Given the description of an element on the screen output the (x, y) to click on. 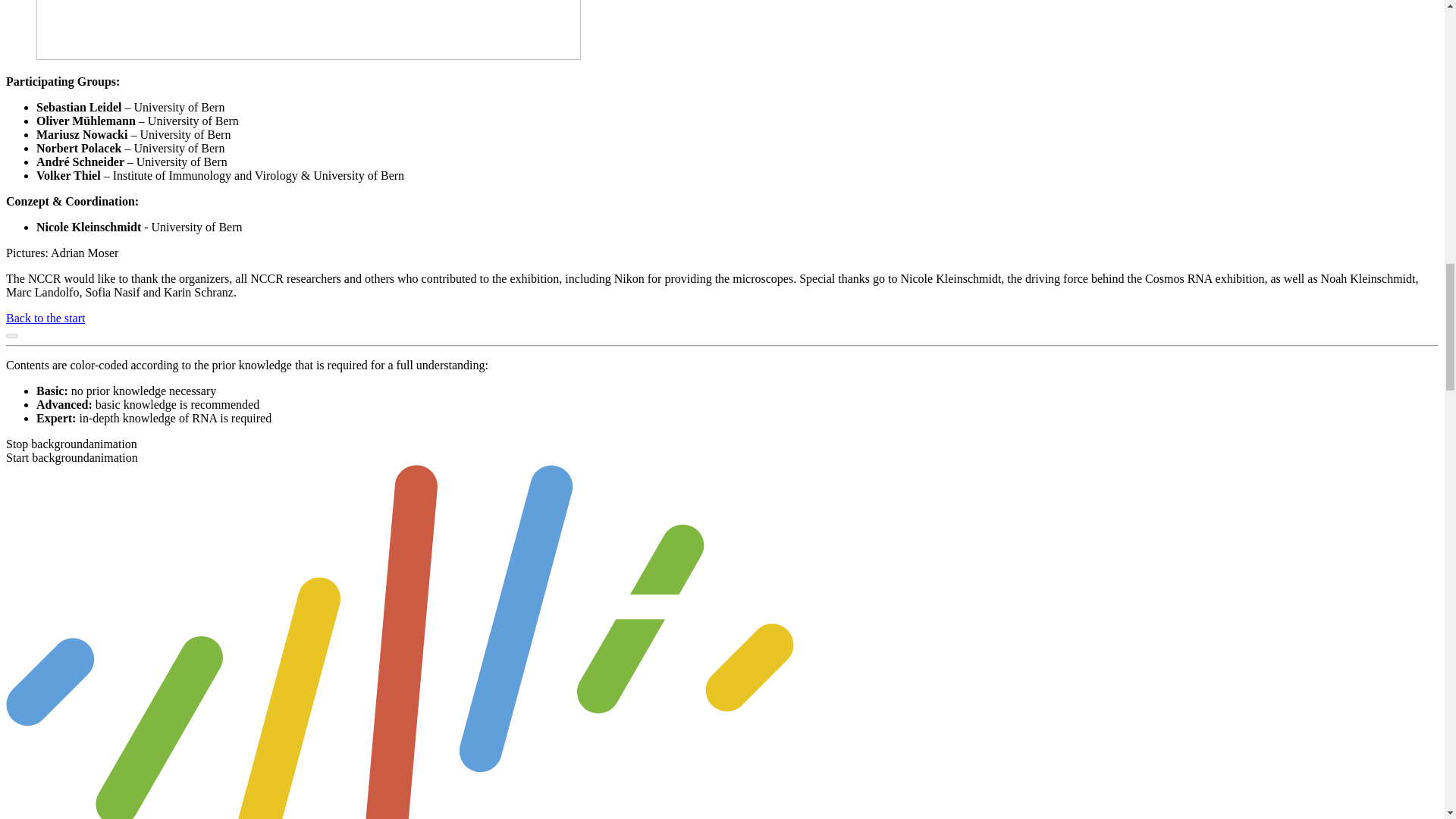
Back to the start (44, 318)
